Given the description of an element on the screen output the (x, y) to click on. 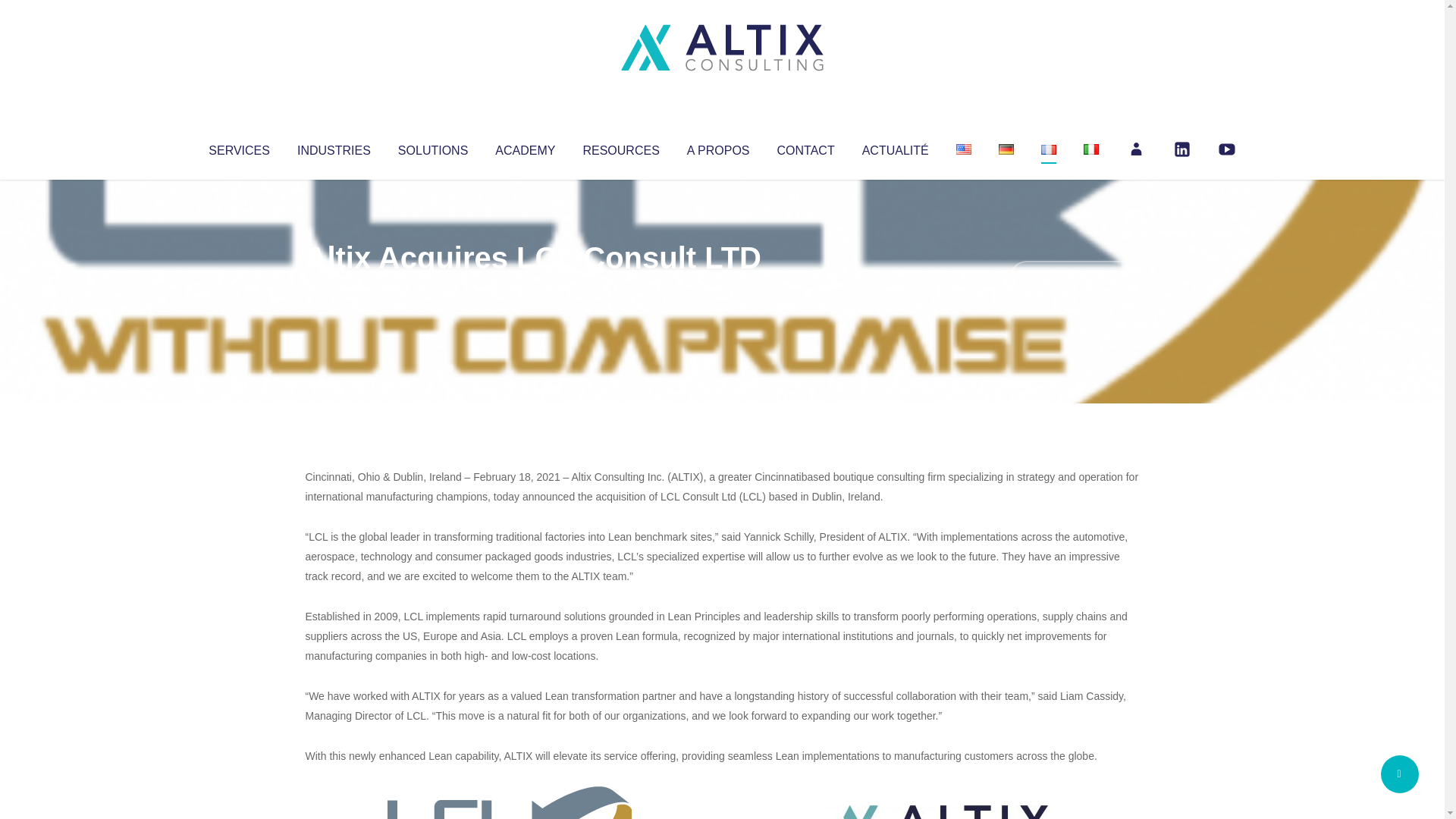
INDUSTRIES (334, 146)
SOLUTIONS (432, 146)
No Comments (1073, 278)
Altix (333, 287)
SERVICES (238, 146)
Articles par Altix (333, 287)
Uncategorized (530, 287)
ACADEMY (524, 146)
RESOURCES (620, 146)
A PROPOS (718, 146)
